Given the description of an element on the screen output the (x, y) to click on. 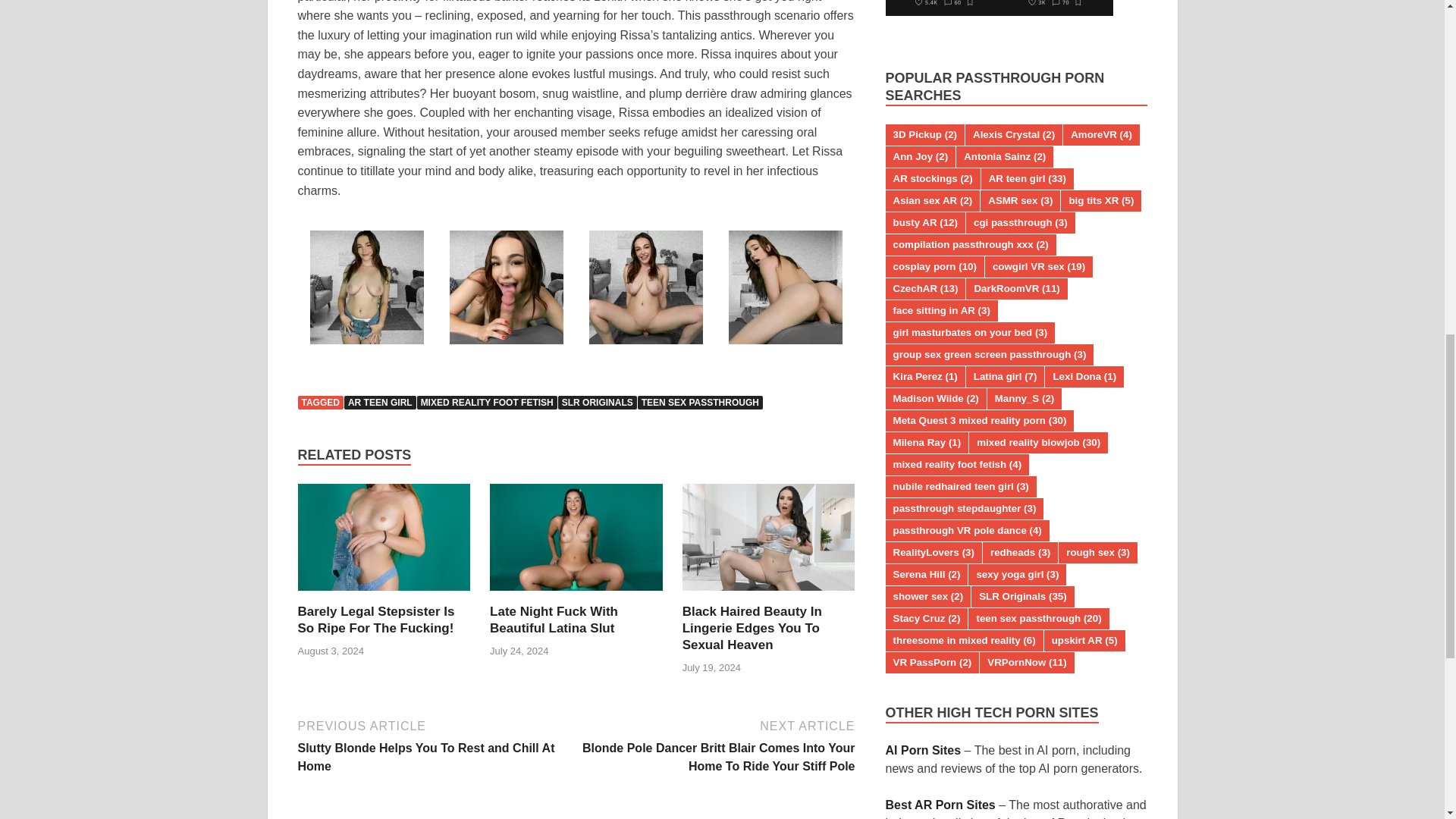
Black Haired Beauty In Lingerie Edges You To Sexual Heaven (752, 627)
Black Haired Beauty In Lingerie Edges You To Sexual Heaven (752, 627)
Barely Legal Stepsister Is So Ripe For The Fucking! (375, 619)
Late Night Fuck With Beautiful Latina Slut (553, 619)
MIXED REALITY FOOT FETISH (486, 402)
Barely Legal Stepsister Is So Ripe For The Fucking! (383, 542)
Barely Legal Stepsister Is So Ripe For The Fucking! (375, 619)
Late Night Fuck With Beautiful Latina Slut (575, 542)
TEEN SEX PASSTHROUGH (699, 402)
Late Night Fuck With Beautiful Latina Slut (553, 619)
SLR ORIGINALS (597, 402)
Black Haired Beauty In Lingerie Edges You To Sexual Heaven (769, 542)
AR TEEN GIRL (379, 402)
